Given the description of an element on the screen output the (x, y) to click on. 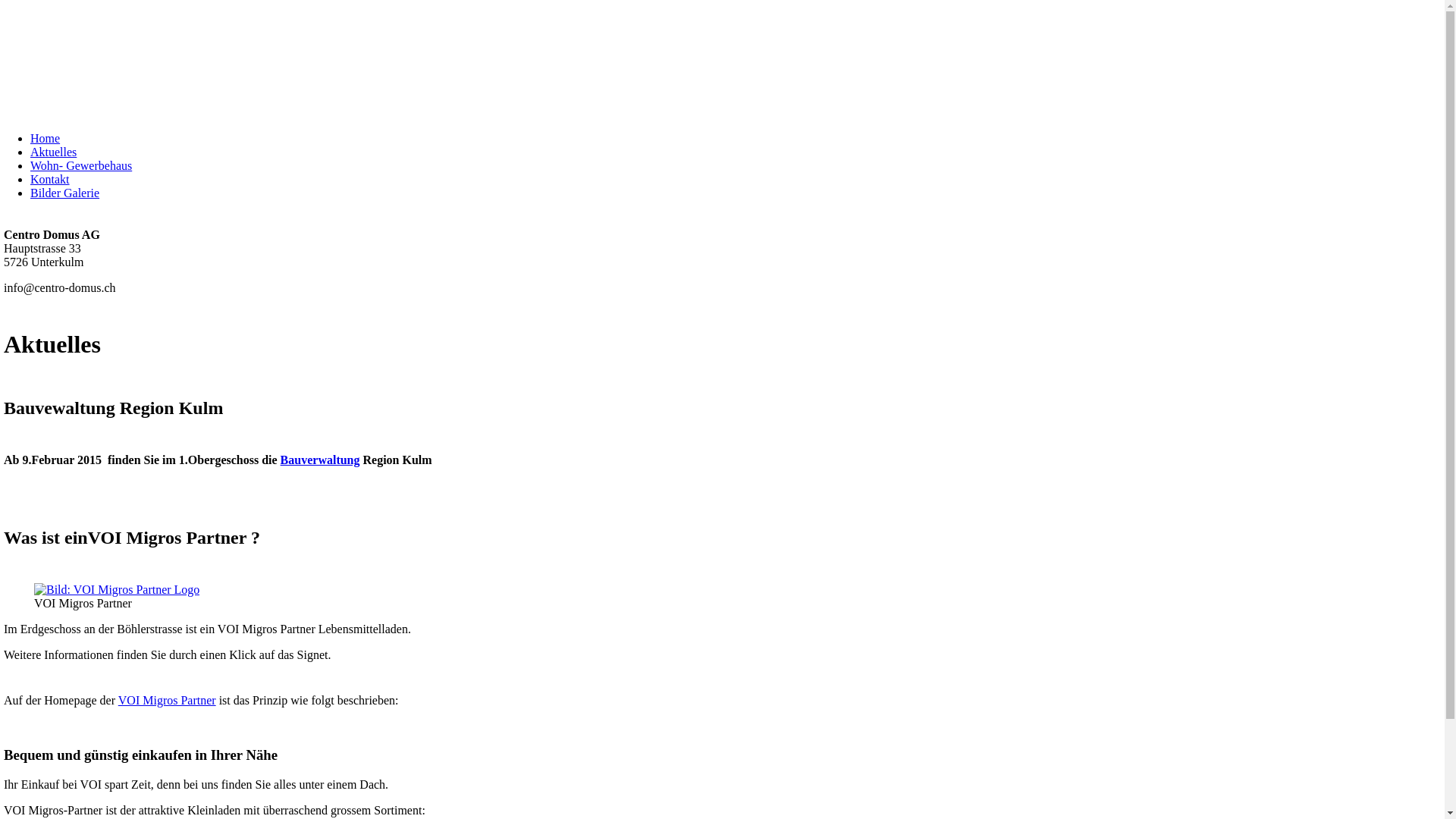
Bauverwaltung Element type: text (320, 459)
VOI Migros Partner Element type: text (167, 699)
Home Element type: text (44, 137)
Bilder Galerie Element type: text (64, 192)
Wohn- Gewerbehaus Element type: text (80, 165)
Aktuelles Element type: text (53, 151)
Kontakt Element type: text (49, 178)
